Given the description of an element on the screen output the (x, y) to click on. 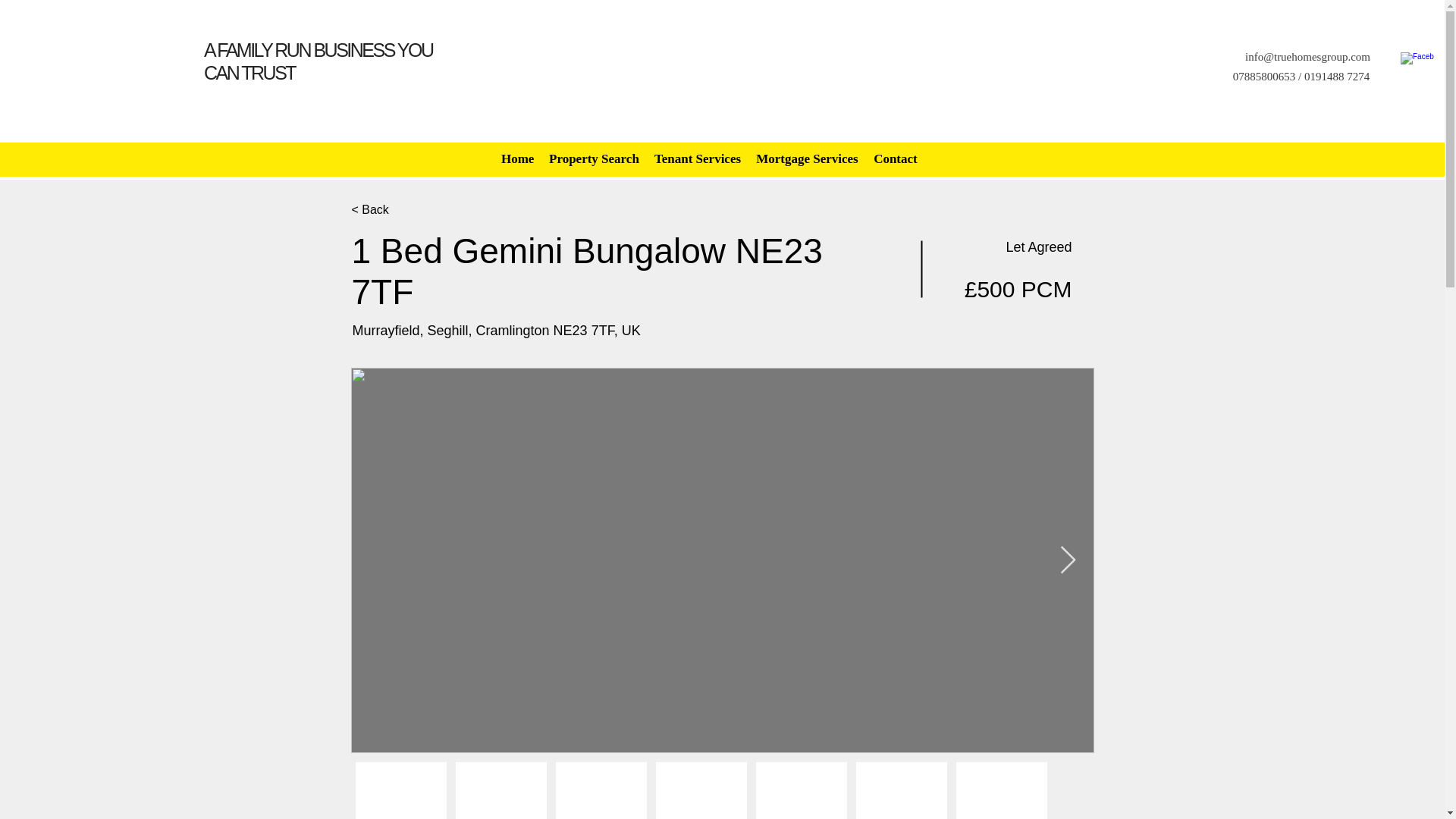
Home (517, 159)
Tenant Services (697, 159)
Mortgage Services (807, 159)
Contact (895, 159)
